Given the description of an element on the screen output the (x, y) to click on. 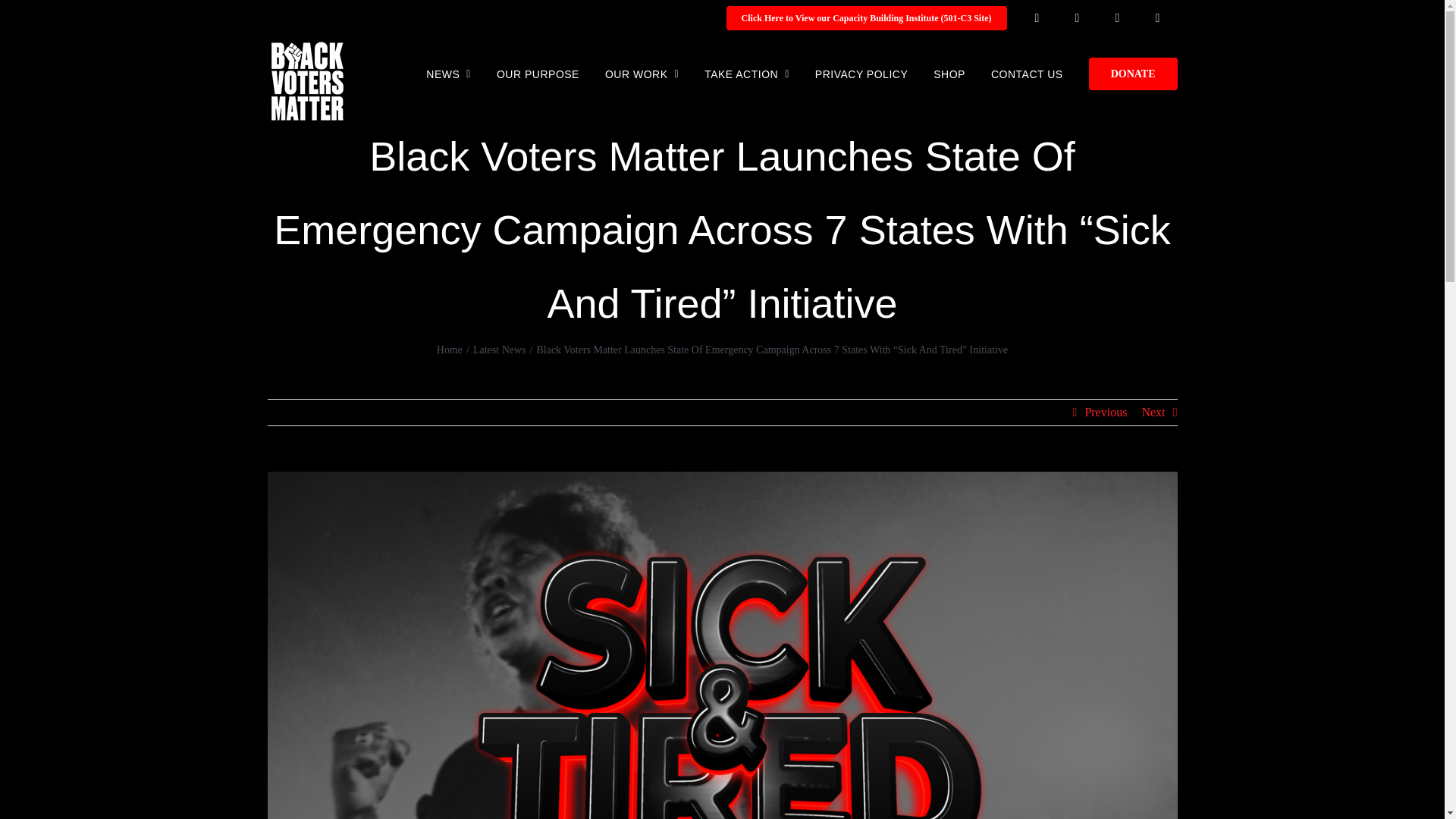
DONATE (1133, 72)
OUR WORK (641, 72)
TAKE ACTION (746, 72)
CONTACT US (1026, 72)
PRIVACY POLICY (861, 72)
OUR PURPOSE (537, 72)
